Given the description of an element on the screen output the (x, y) to click on. 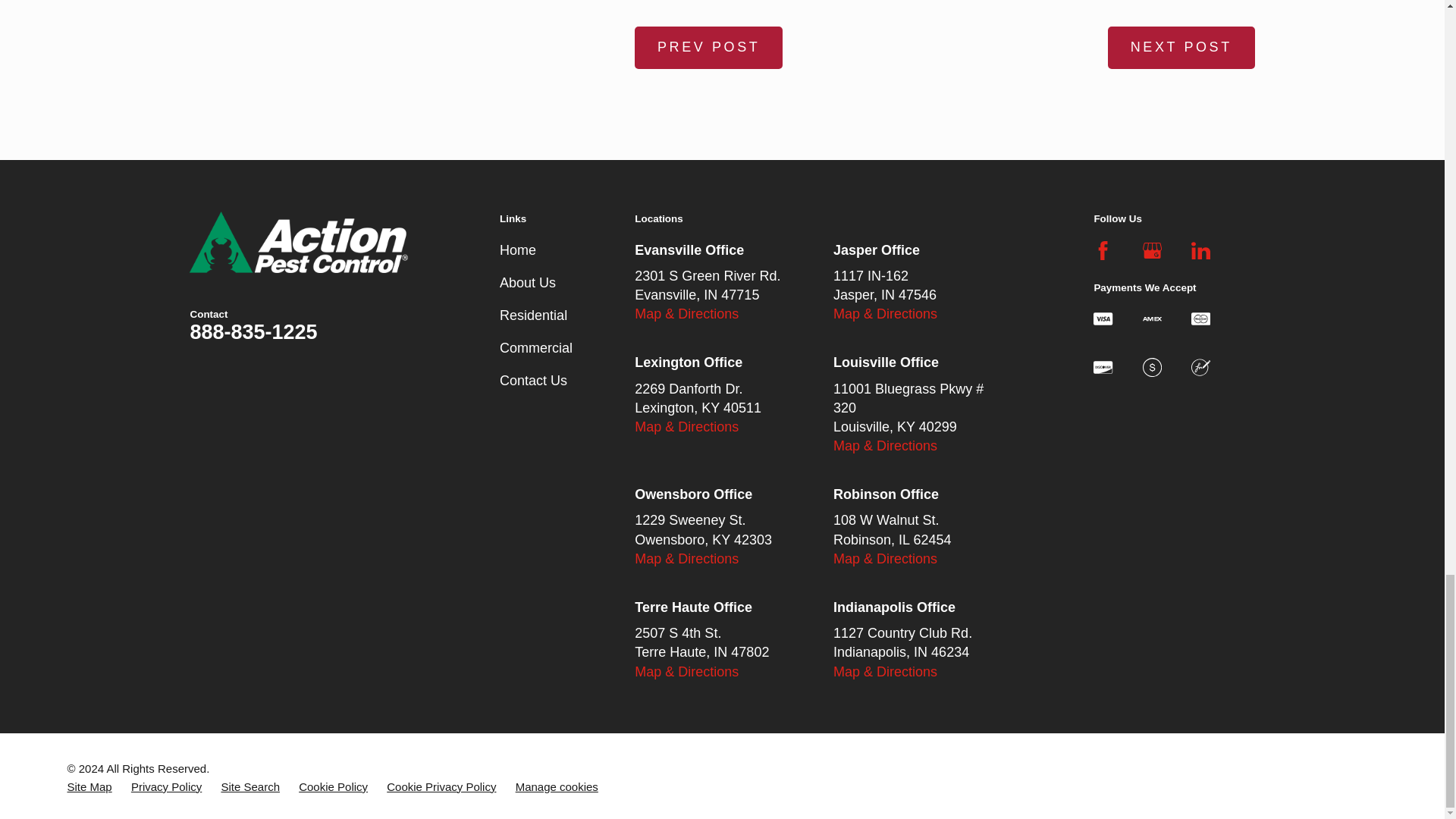
Visa (1102, 318)
Home (298, 241)
AMEX (1151, 318)
Check (1200, 366)
LinkedIn (1200, 250)
Facebook (1102, 250)
Discover (1102, 366)
Google Business Profile (1151, 250)
MasterCard (1200, 318)
